Given the description of an element on the screen output the (x, y) to click on. 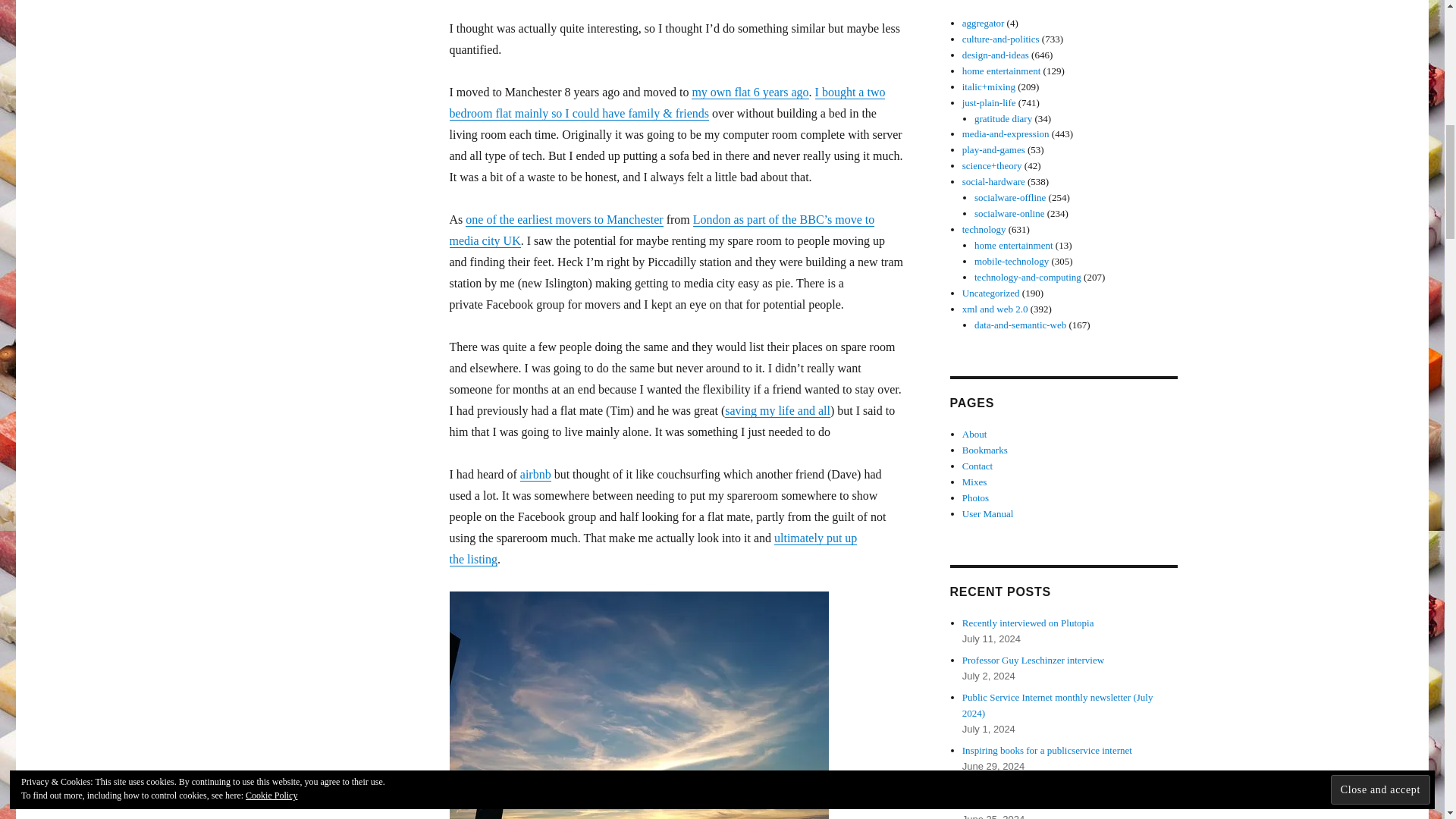
my own flat 6 years ago (749, 91)
one of the earliest movers to Manchester (563, 219)
saving my life and all (777, 410)
airbnb (535, 473)
ultimately put up the listing (652, 548)
